Given the description of an element on the screen output the (x, y) to click on. 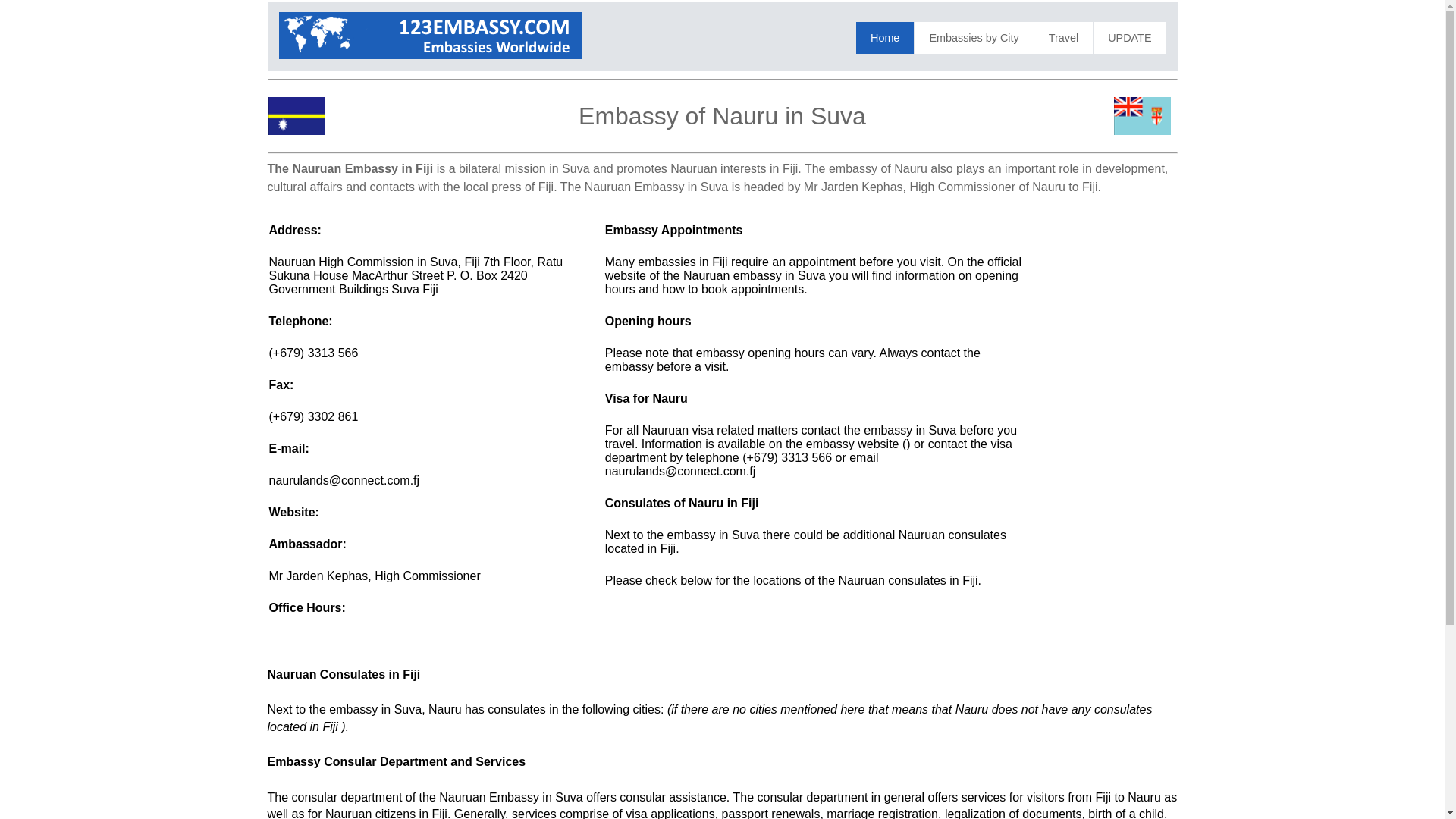
Travel (1063, 38)
Embassies by City (973, 38)
Home (885, 38)
UPDATE (1129, 38)
